Given the description of an element on the screen output the (x, y) to click on. 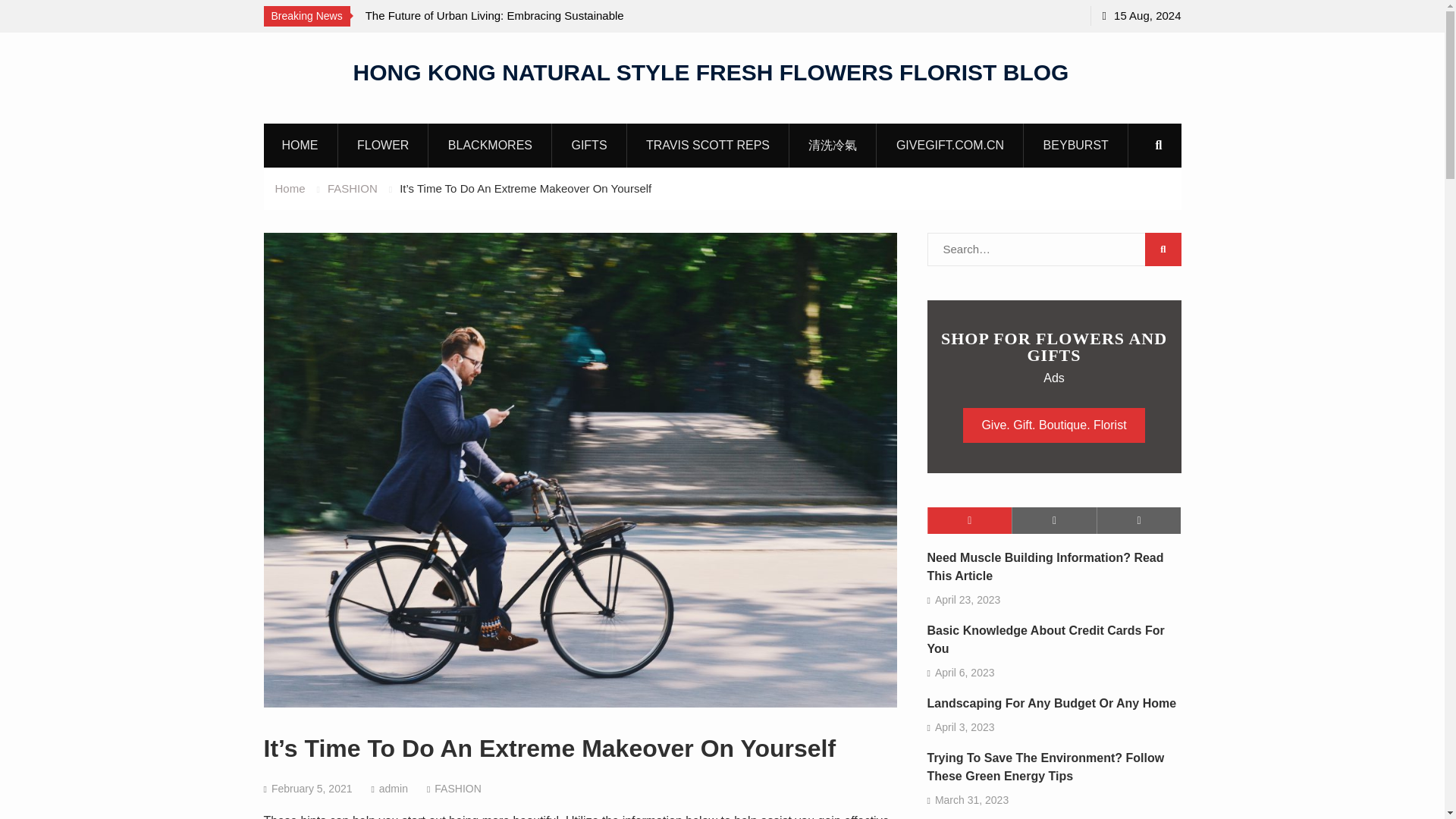
BEYBURST (1076, 144)
Search for: (1053, 249)
HOME (299, 144)
admin (392, 788)
February 5, 2021 (311, 788)
GIVEGIFT.COM.CN (950, 144)
TRAVIS SCOTT REPS (708, 144)
FASHION (352, 187)
Home (289, 187)
